Given the description of an element on the screen output the (x, y) to click on. 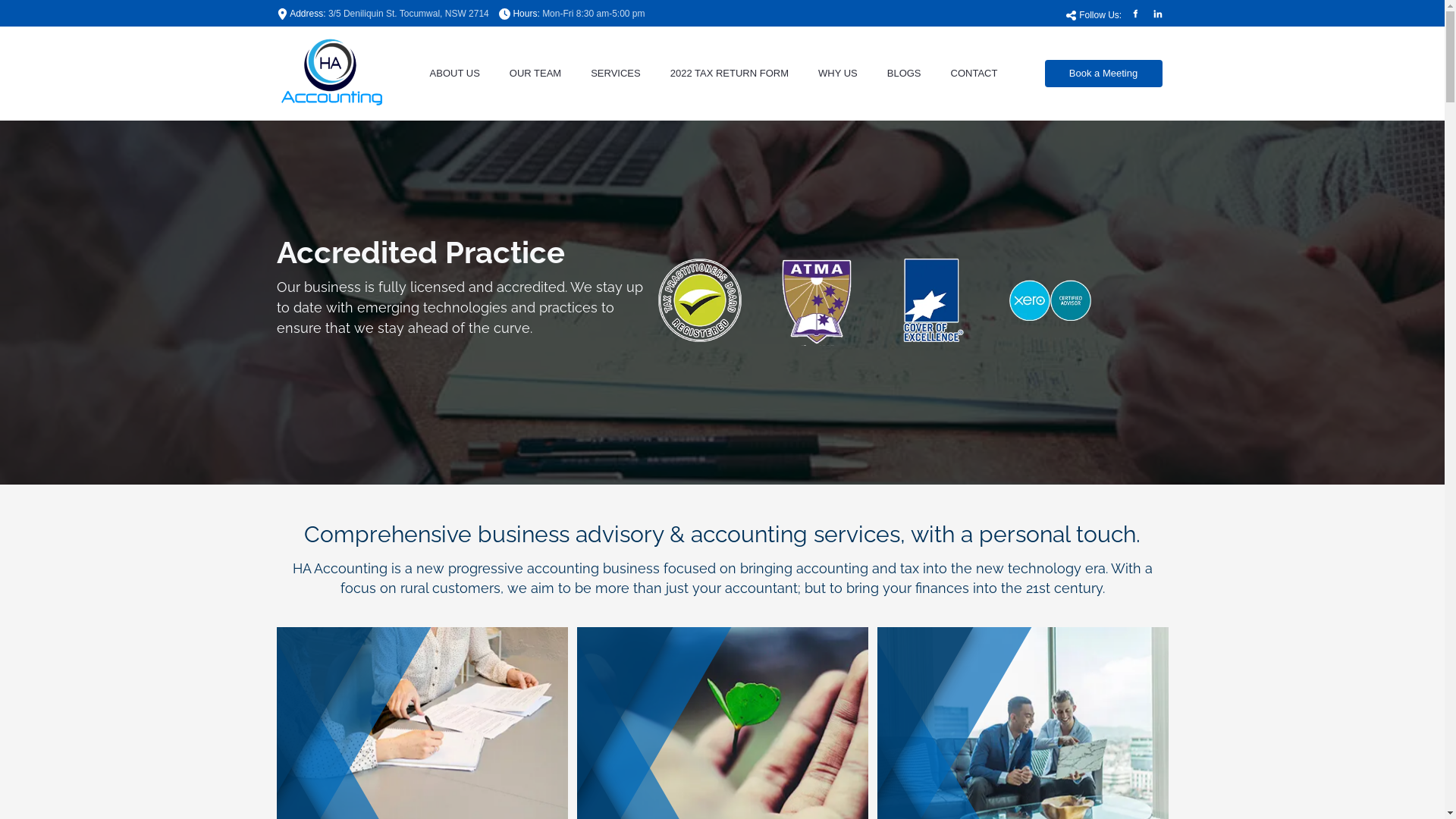
BLOGS Element type: text (903, 73)
WHY US Element type: text (837, 73)
OUR TEAM Element type: text (534, 73)
LinkedIn Element type: hover (1156, 13)
ABOUT US Element type: text (454, 73)
2022 TAX RETURN FORM Element type: text (729, 73)
Book a Meeting Element type: text (1103, 73)
SERVICES Element type: text (615, 73)
CONTACT Element type: text (973, 73)
Facebook Element type: hover (1134, 13)
